Given the description of an element on the screen output the (x, y) to click on. 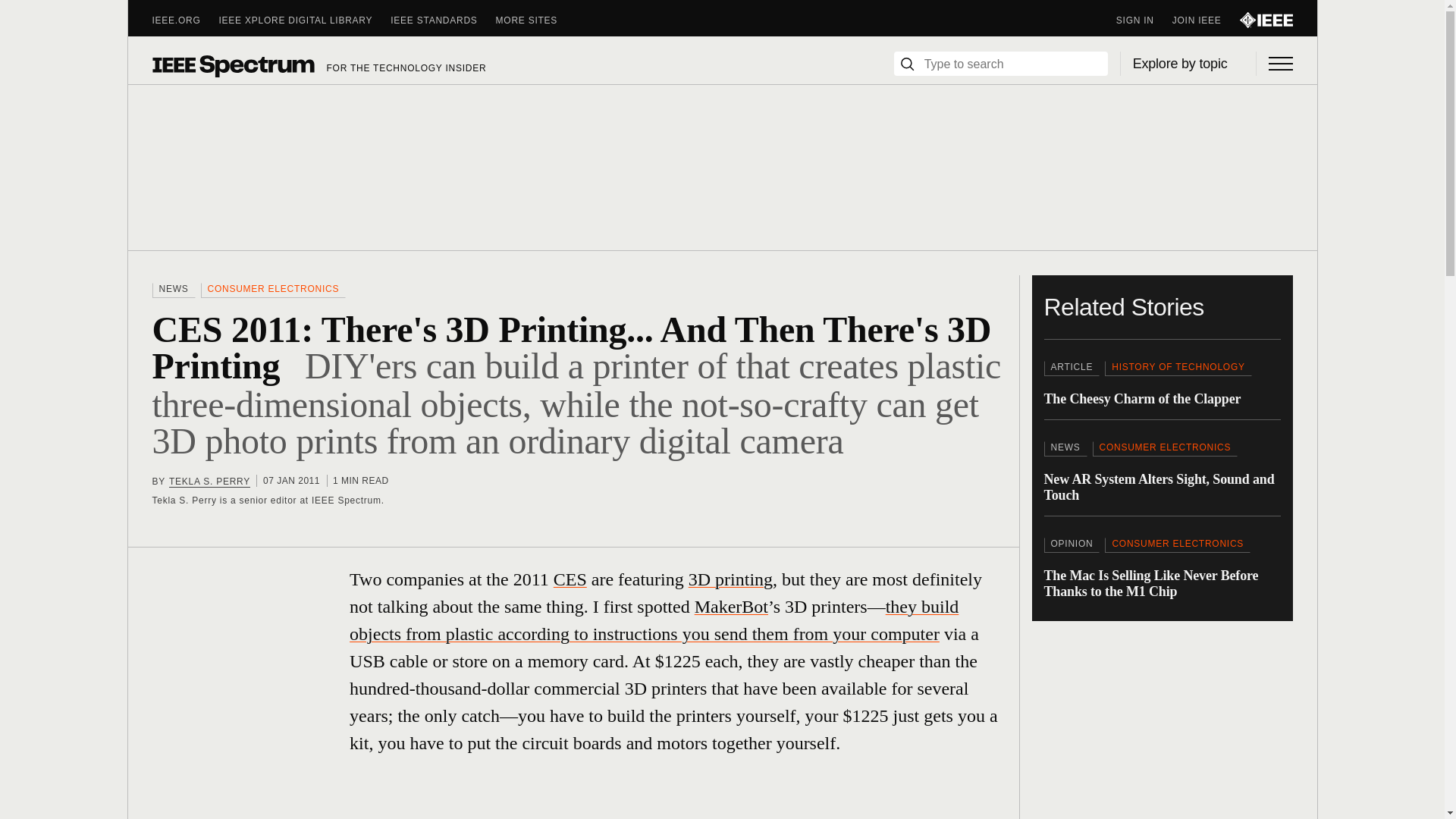
JOIN IEEE (1206, 20)
Spectrum Logo (232, 64)
MORE SITES (536, 20)
SIGN IN (1144, 20)
IEEE XPLORE DIGITAL LIBRARY (305, 20)
IEEE STANDARDS (442, 20)
IEEE.ORG (184, 20)
Search (907, 63)
